Given the description of an element on the screen output the (x, y) to click on. 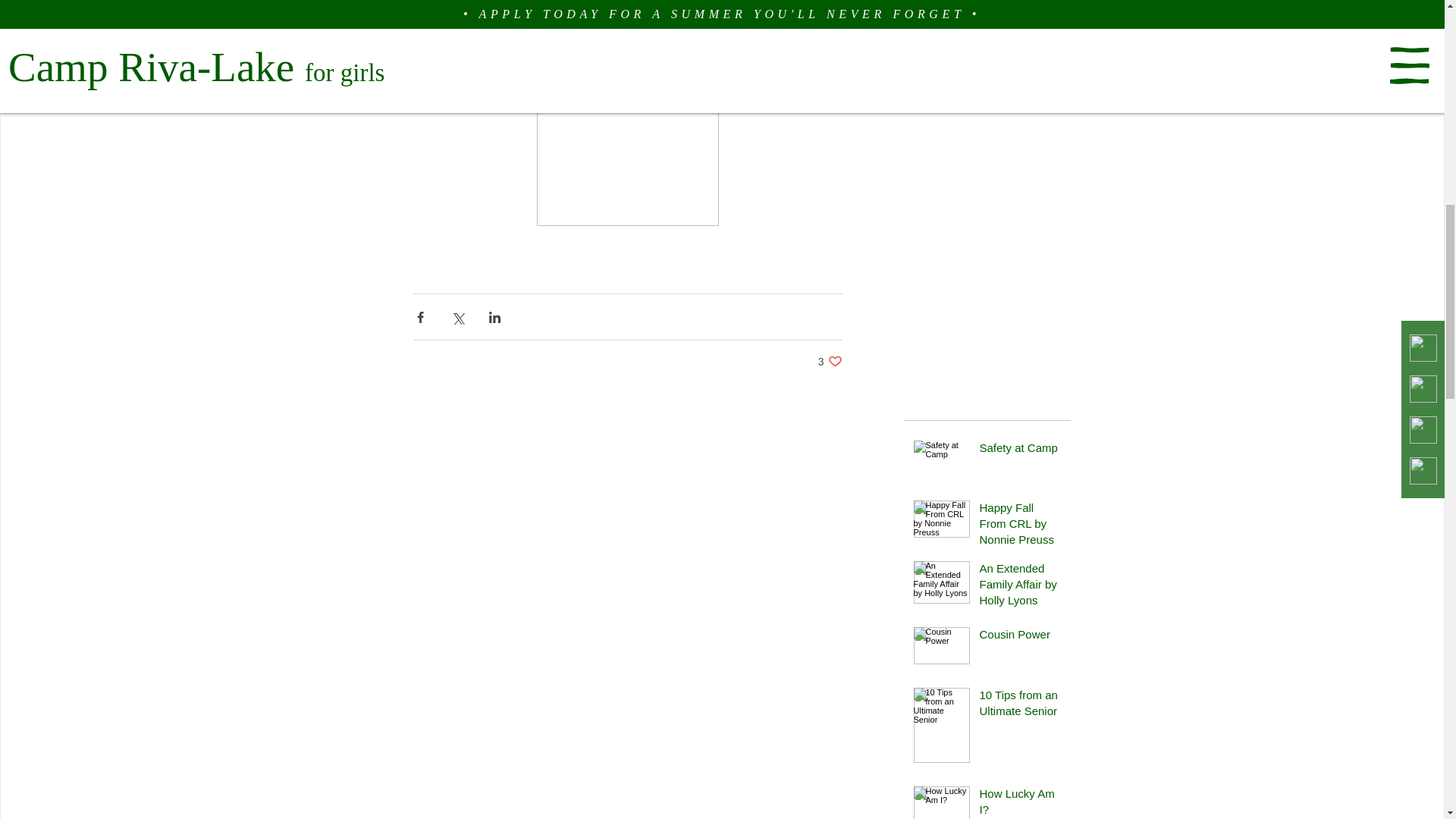
10 Tips from an Ultimate Senior (1020, 705)
An Extended Family Affair by Holly Lyons (1020, 587)
How Lucky Am I? (830, 360)
Safety at Camp (1020, 802)
Happy Fall From CRL by Nonnie Preuss (1020, 450)
Cousin Power (1020, 526)
